Given the description of an element on the screen output the (x, y) to click on. 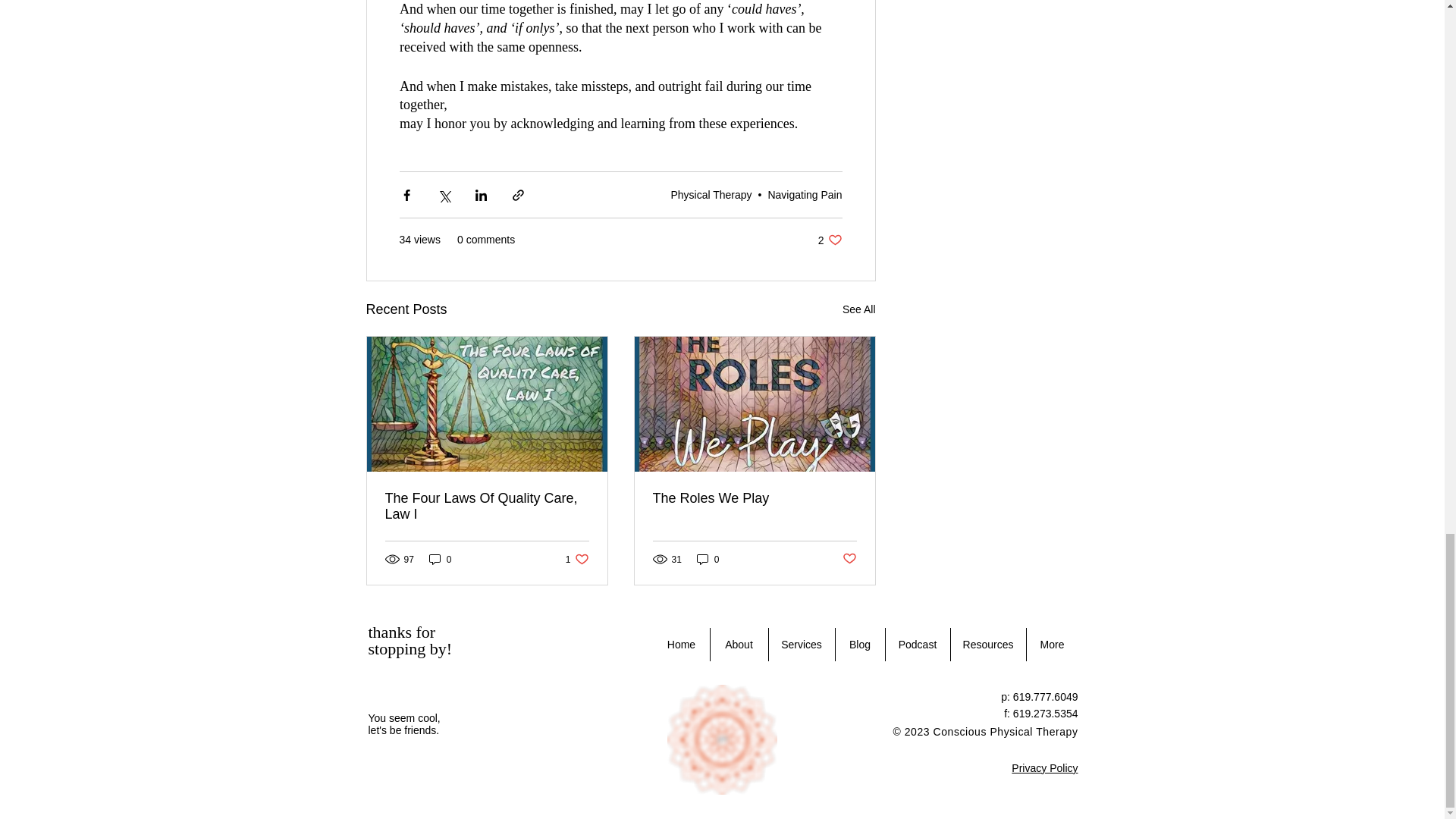
The Roles We Play (754, 498)
0 (440, 559)
Navigating Pain (804, 194)
Post not marked as liked (848, 559)
0 (830, 239)
See All (707, 559)
The Four Laws Of Quality Care, Law I (859, 309)
Physical Therapy (487, 506)
